Given the description of an element on the screen output the (x, y) to click on. 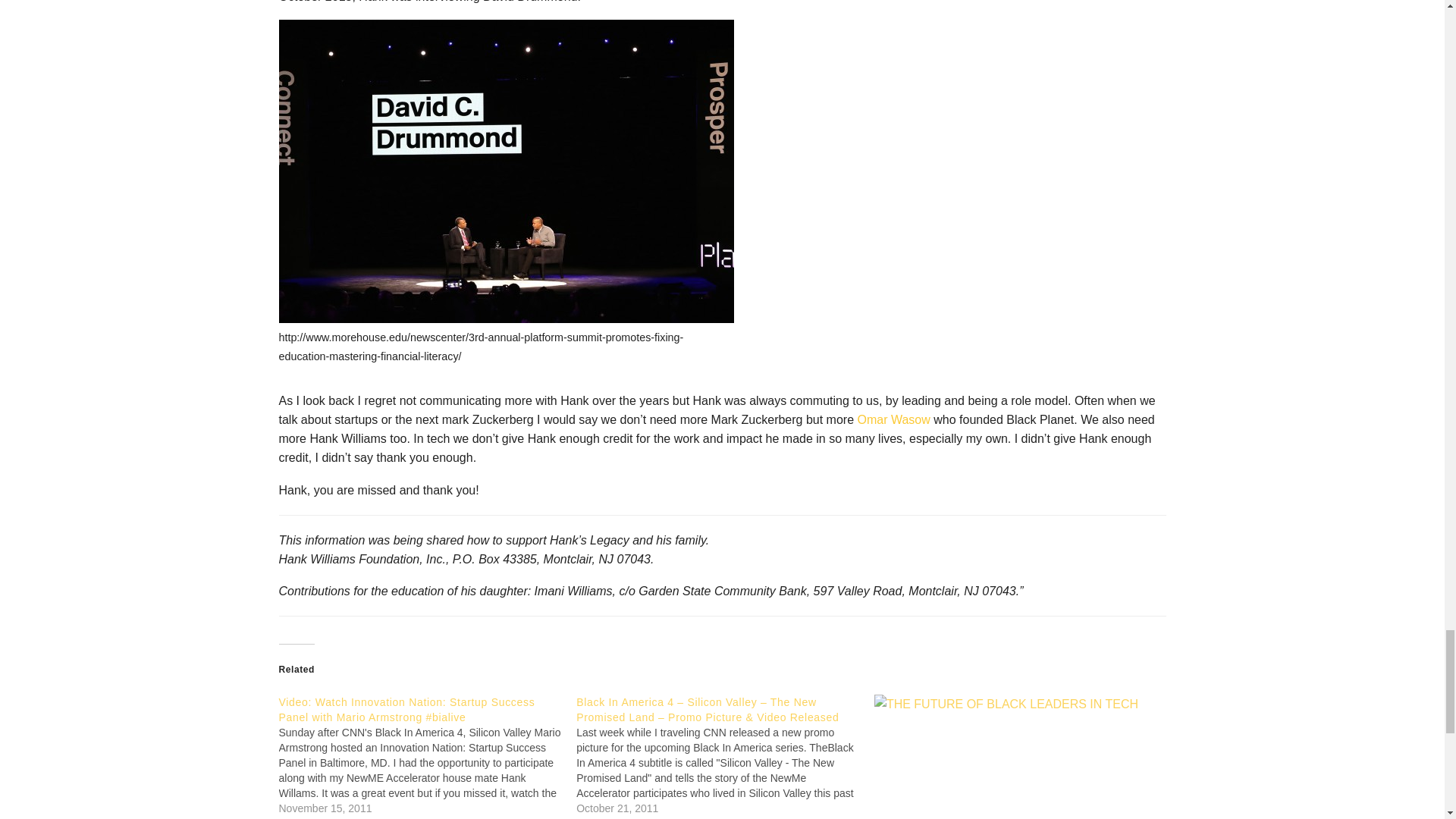
Omar Wasow (893, 419)
